Given the description of an element on the screen output the (x, y) to click on. 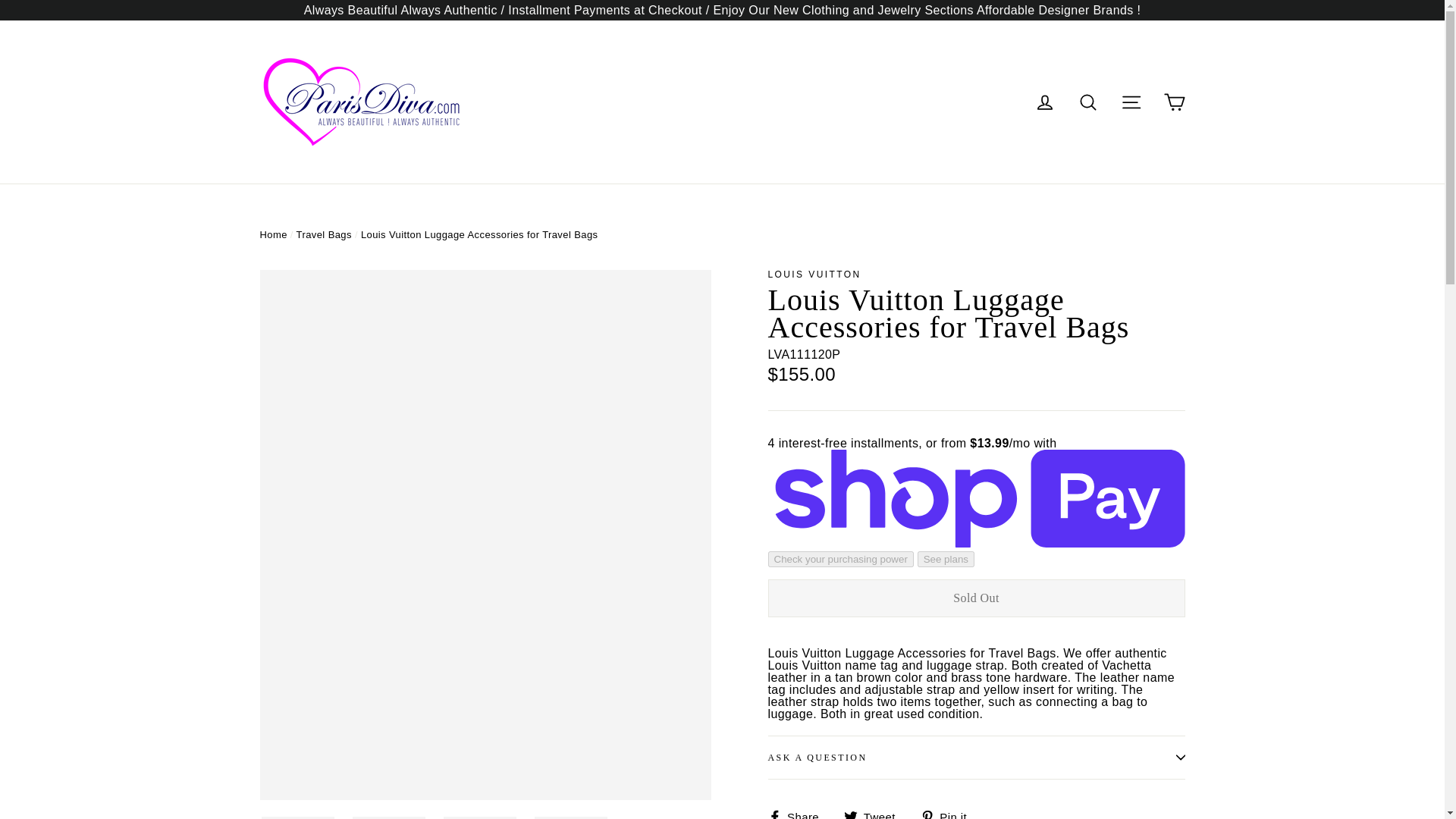
Sold Out (976, 598)
Pin on Pinterest (949, 814)
ASK A QUESTION (798, 814)
Tweet on Twitter (976, 756)
Site navigation (875, 814)
Back to the frontpage (1131, 101)
Share on Facebook (272, 234)
Search (798, 814)
Travel Bags (1088, 101)
Log in (324, 234)
Home (875, 814)
Cart (1044, 101)
Skip to content (272, 234)
